Given the description of an element on the screen output the (x, y) to click on. 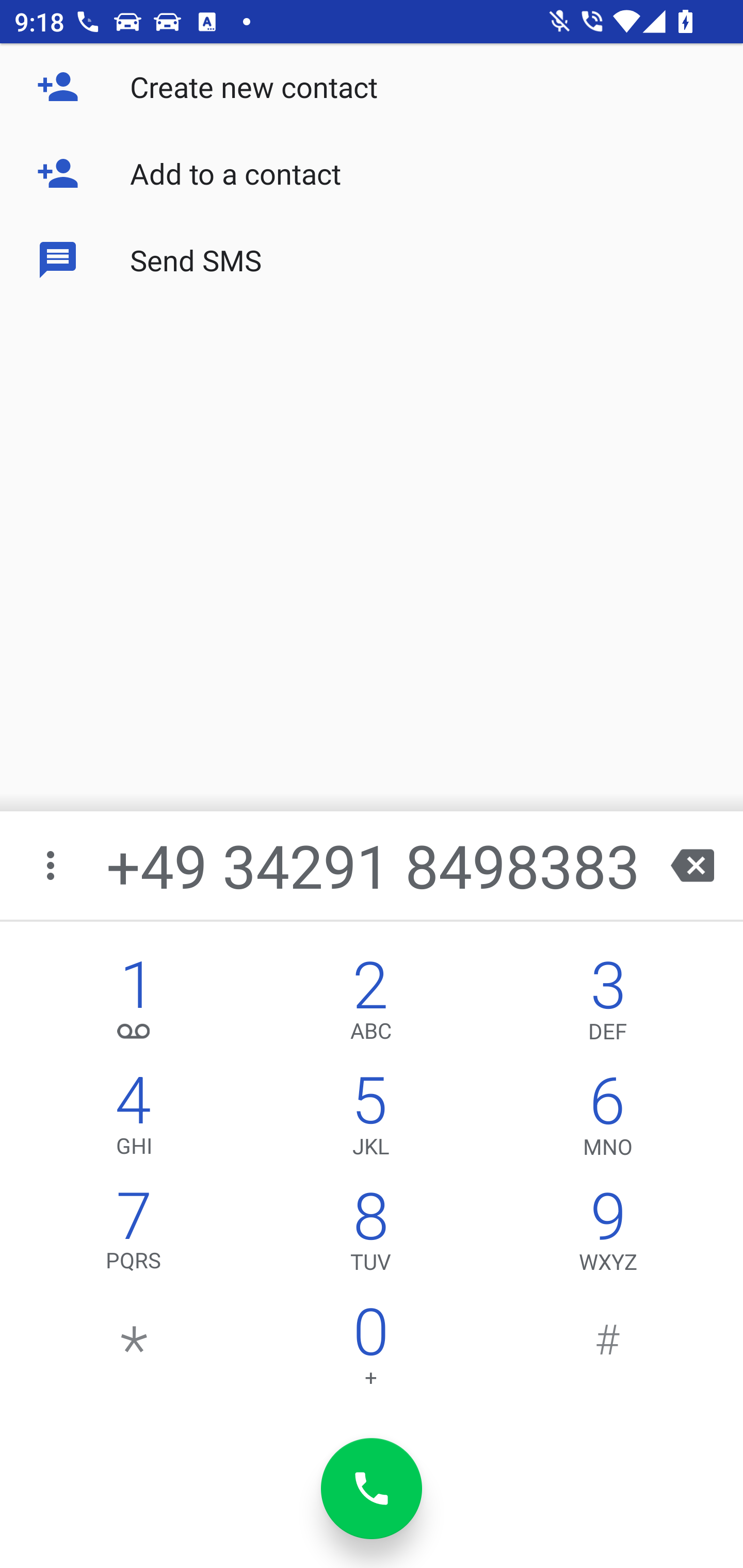
Create new contact (371, 86)
Add to a contact (371, 173)
Send SMS (371, 259)
+49 34291 8498383 (372, 865)
backspace (692, 865)
More options (52, 865)
1, 1 (133, 1005)
2,ABC 2 ABC (370, 1005)
3,DEF 3 DEF (607, 1005)
4,GHI 4 GHI (133, 1120)
5,JKL 5 JKL (370, 1120)
6,MNO 6 MNO (607, 1120)
7,PQRS 7 PQRS (133, 1235)
8,TUV 8 TUV (370, 1235)
9,WXYZ 9 WXYZ (607, 1235)
* (133, 1351)
0 0 + (370, 1351)
# (607, 1351)
dial (371, 1488)
